Given the description of an element on the screen output the (x, y) to click on. 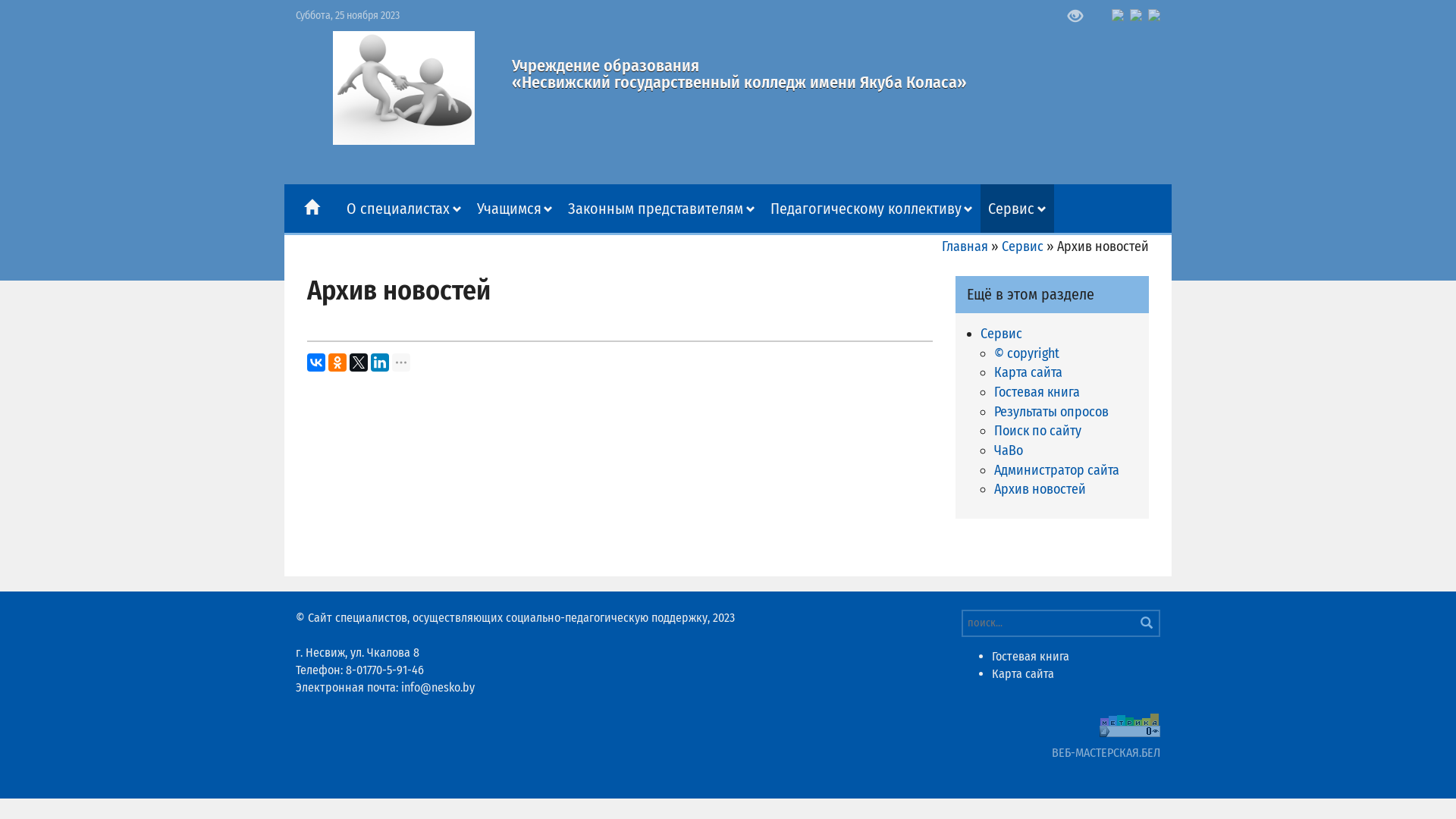
LinkedIn Element type: hover (379, 362)
Twitter Element type: hover (358, 362)
